Given the description of an element on the screen output the (x, y) to click on. 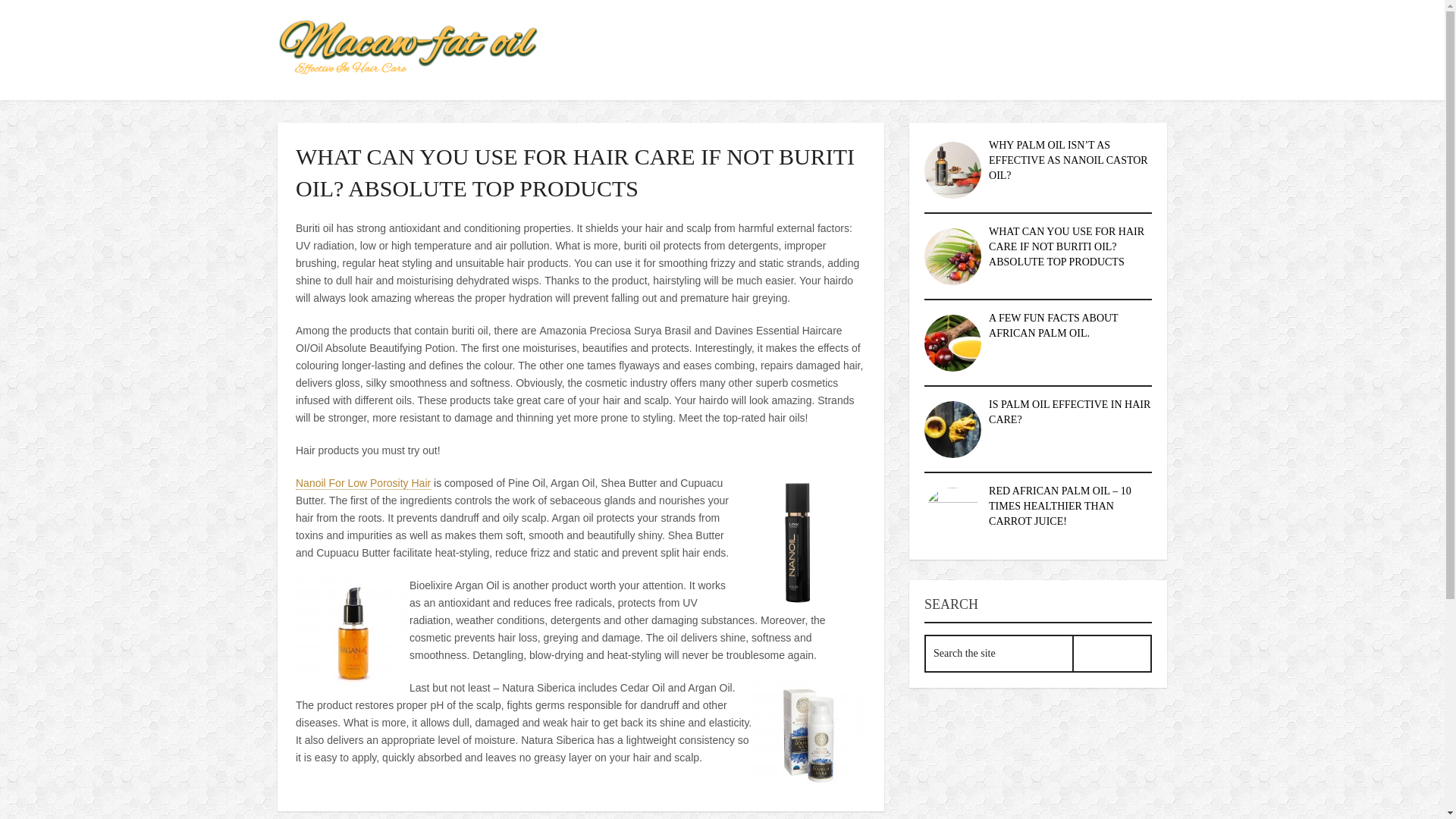
A FEW FUN FACTS ABOUT AFRICAN PALM OIL. (1053, 325)
Search (1111, 653)
IS PALM OIL EFFECTIVE IN HAIR CARE? (1069, 411)
Search (1111, 653)
Nanoil For Low Porosity Hair (362, 482)
